Given the description of an element on the screen output the (x, y) to click on. 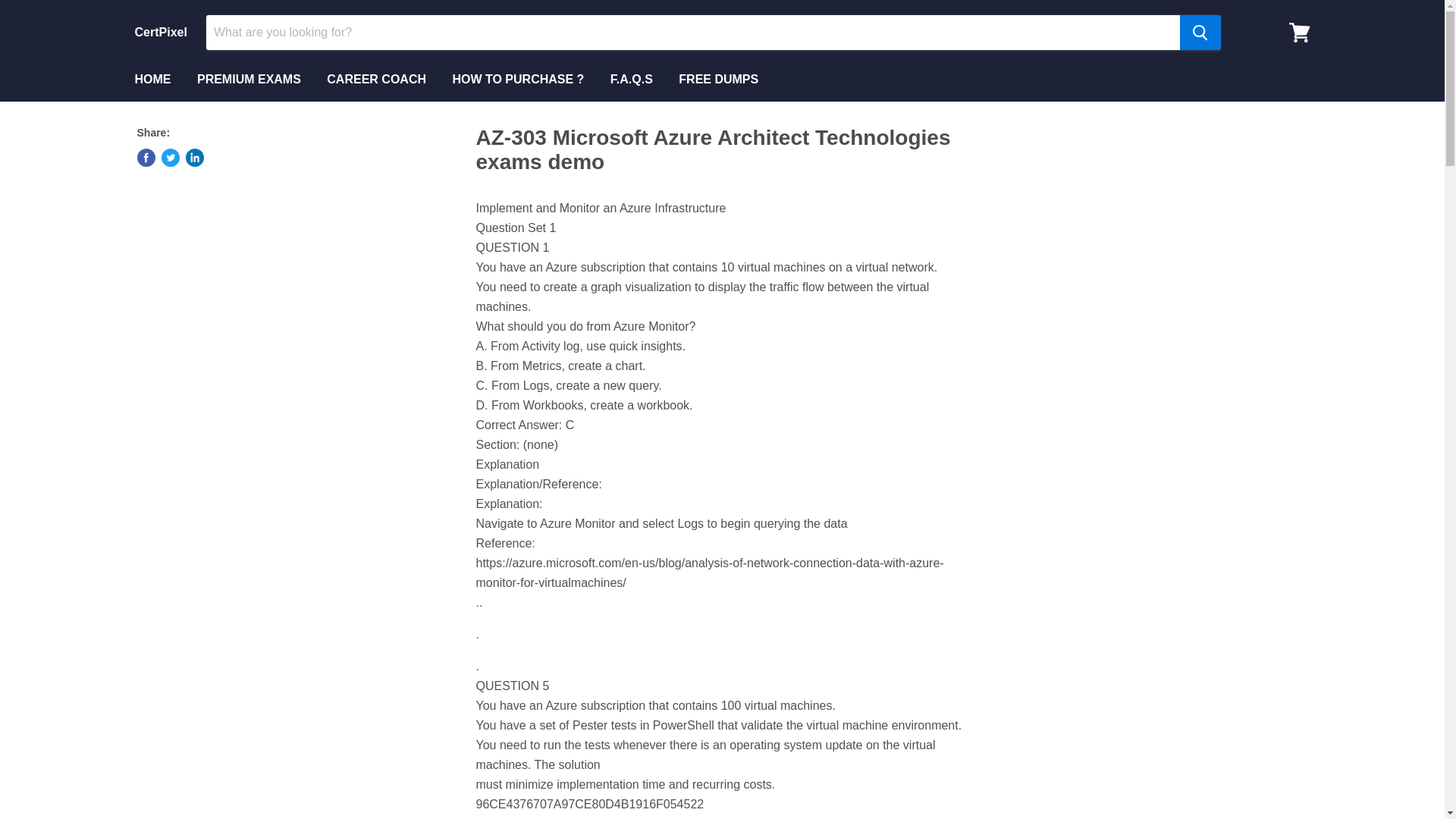
HOW TO PURCHASE ? (518, 79)
PREMIUM EXAMS (249, 79)
CAREER COACH (376, 79)
FREE DUMPS (718, 79)
HOME (152, 79)
Share on Facebook (145, 157)
F.A.Q.S (630, 79)
View cart (1299, 32)
Tweet on Twitter (169, 157)
CertPixel (161, 32)
